Given the description of an element on the screen output the (x, y) to click on. 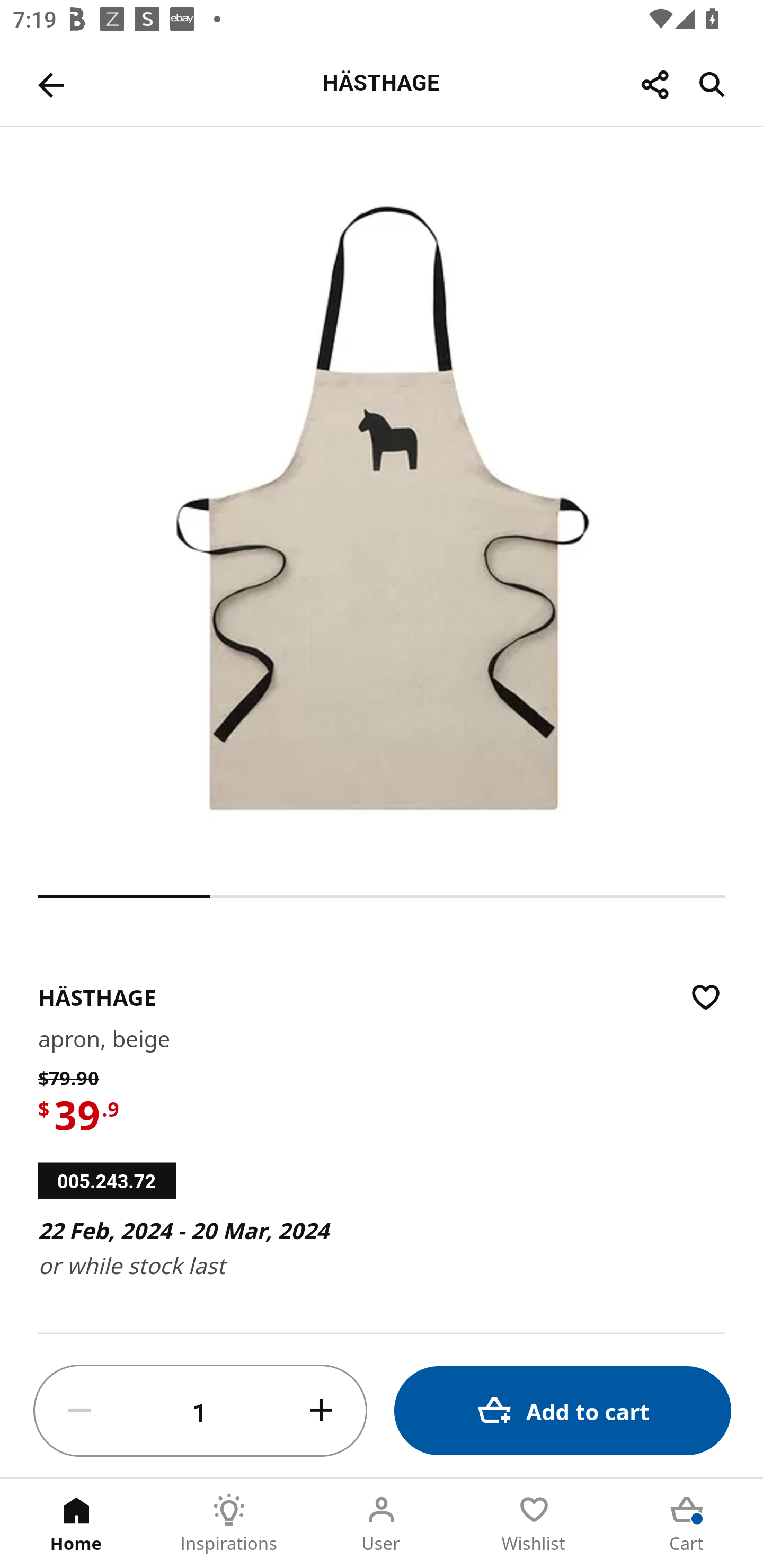
Add to cart (562, 1410)
1 (200, 1411)
Home
Tab 1 of 5 (76, 1522)
Inspirations
Tab 2 of 5 (228, 1522)
User
Tab 3 of 5 (381, 1522)
Wishlist
Tab 4 of 5 (533, 1522)
Cart
Tab 5 of 5 (686, 1522)
